Given the description of an element on the screen output the (x, y) to click on. 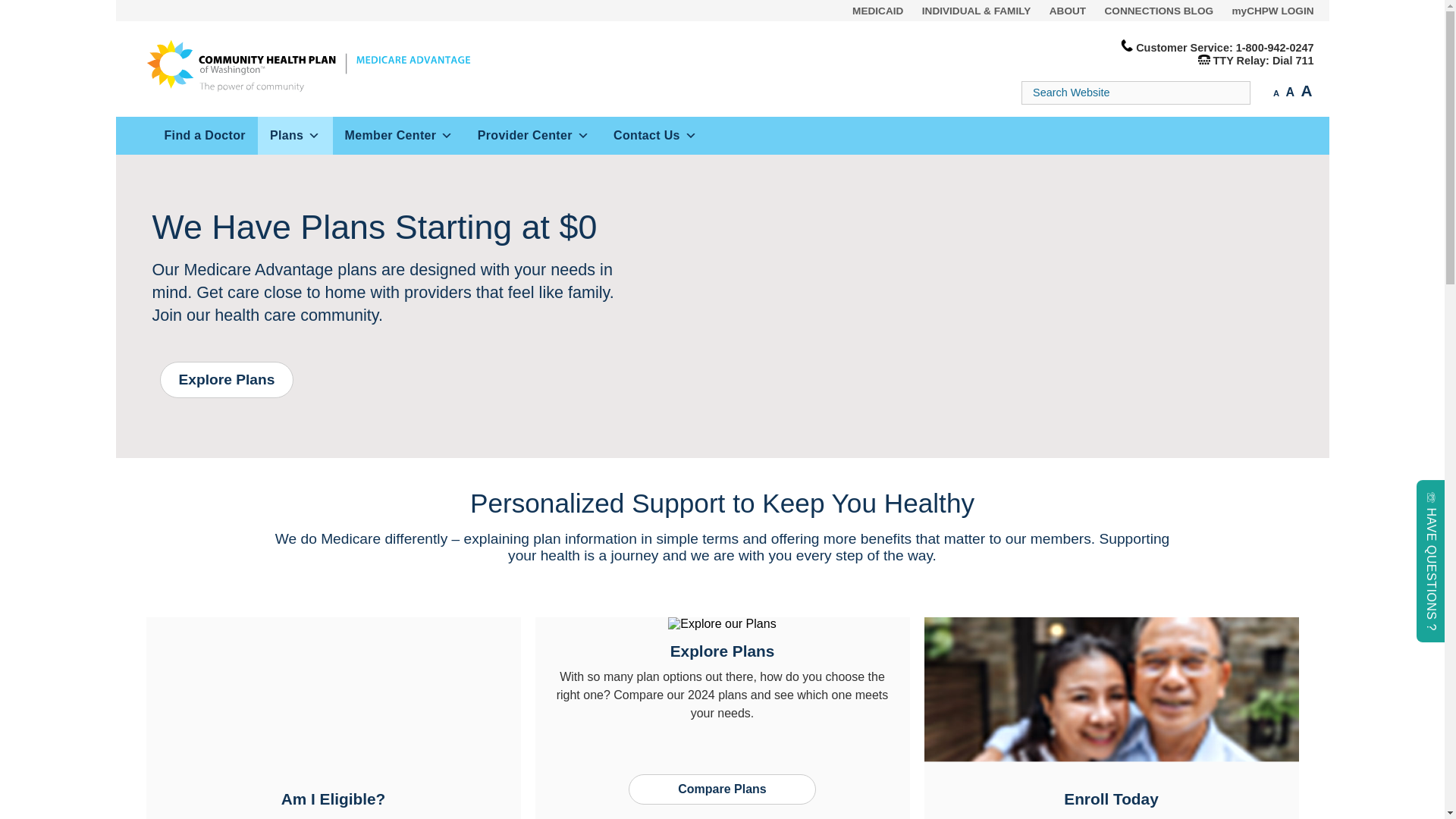
Browse all plan options and compare coverage. (722, 788)
Find a Doctor (204, 135)
ABOUT (1067, 10)
search (30, 10)
myCHPW LOGIN (1272, 10)
Customer Service: 1-800-942-0247 (1224, 47)
CONNECTIONS BLOG (1159, 10)
Explore 2024 Medicare Advantage Plans (226, 379)
MEDICAID (876, 10)
